Given the description of an element on the screen output the (x, y) to click on. 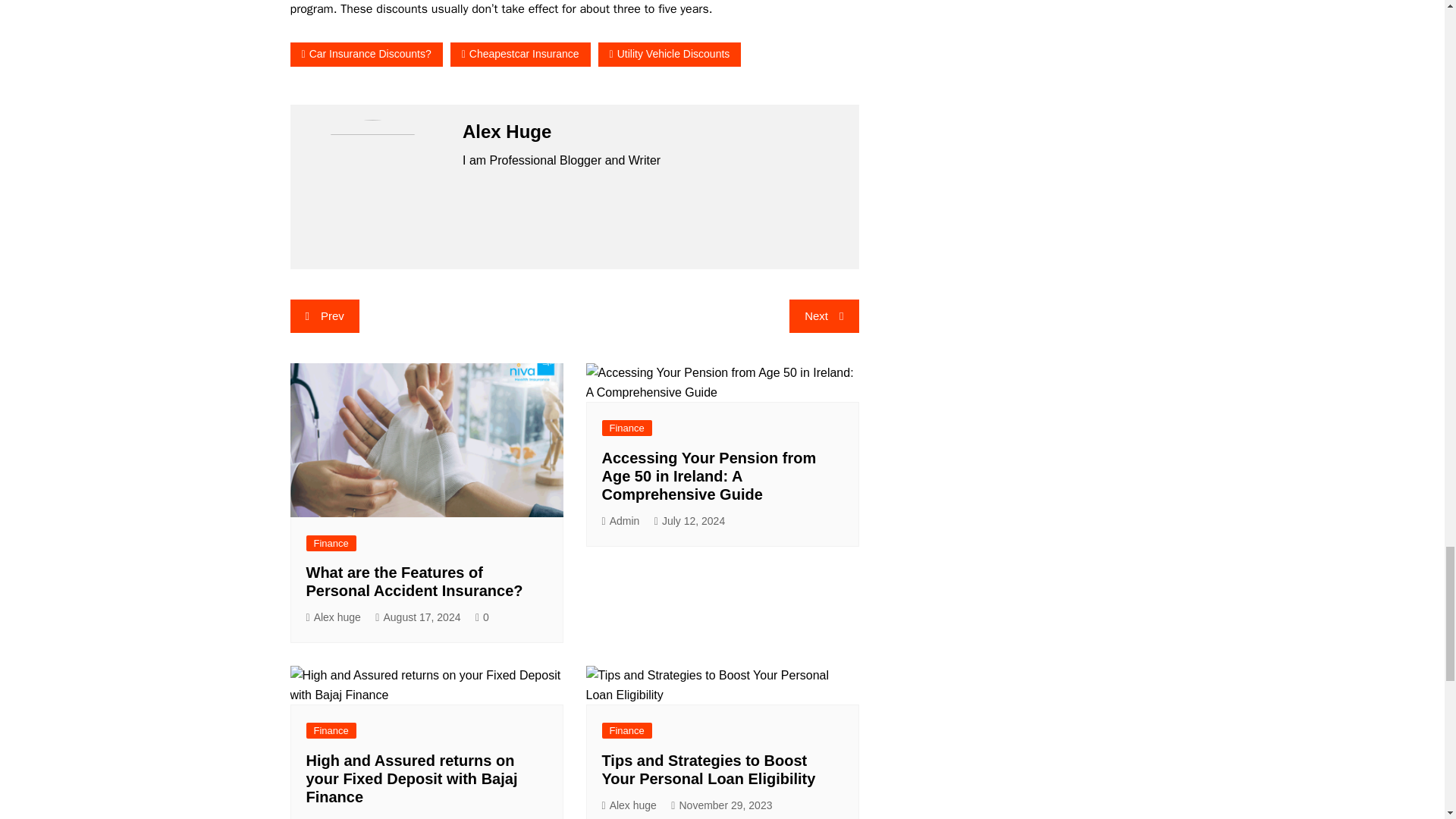
Utility Vehicle Discounts (669, 54)
Next (824, 315)
August 17, 2024 (417, 617)
Cheapestcar Insurance (520, 54)
Finance (330, 543)
Alex huge (333, 617)
Finance (627, 427)
Car Insurance Discounts? (365, 54)
Prev (323, 315)
What are the Features of Personal Accident Insurance? (413, 581)
